Given the description of an element on the screen output the (x, y) to click on. 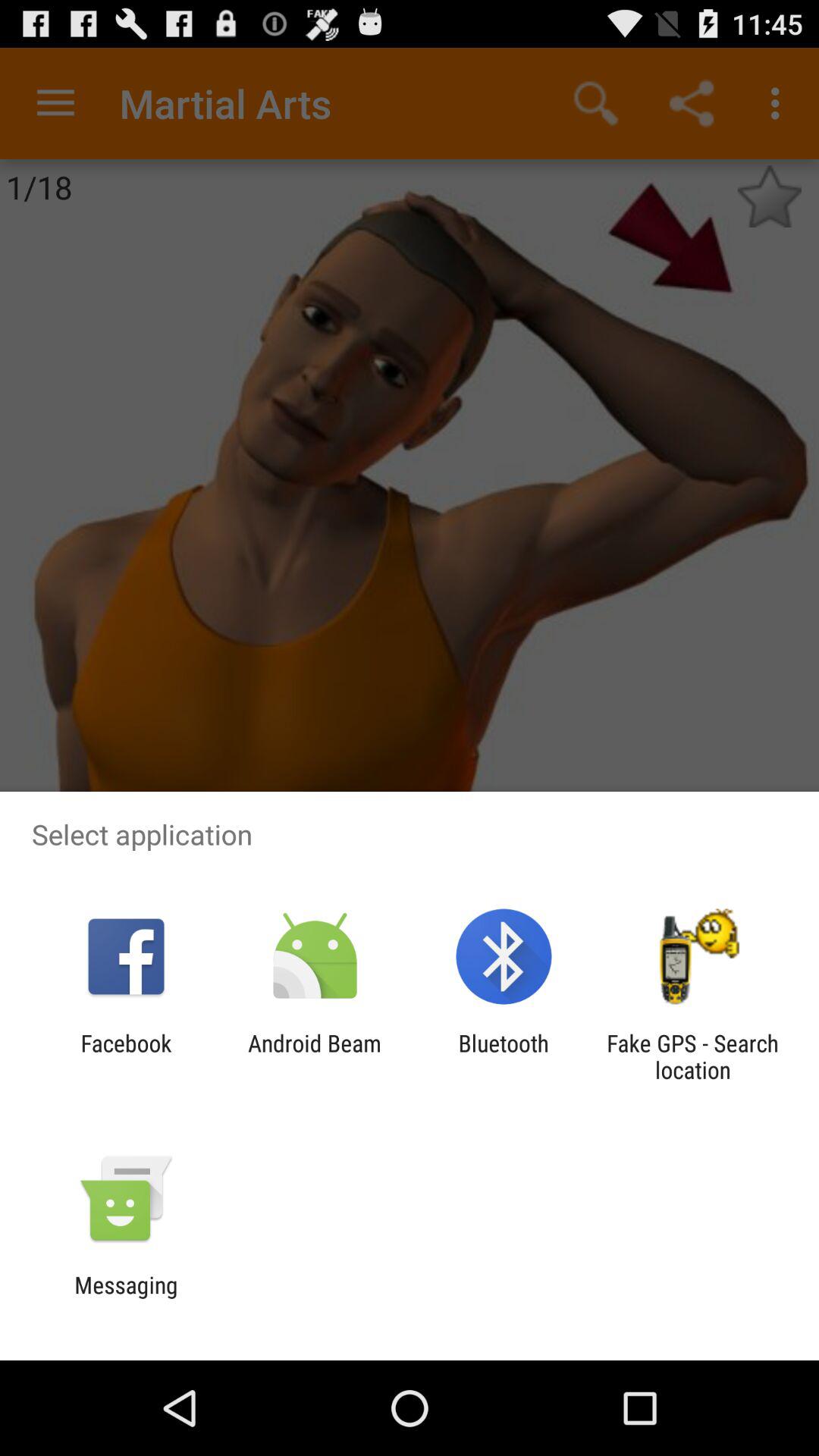
turn off item next to the android beam item (503, 1056)
